Given the description of an element on the screen output the (x, y) to click on. 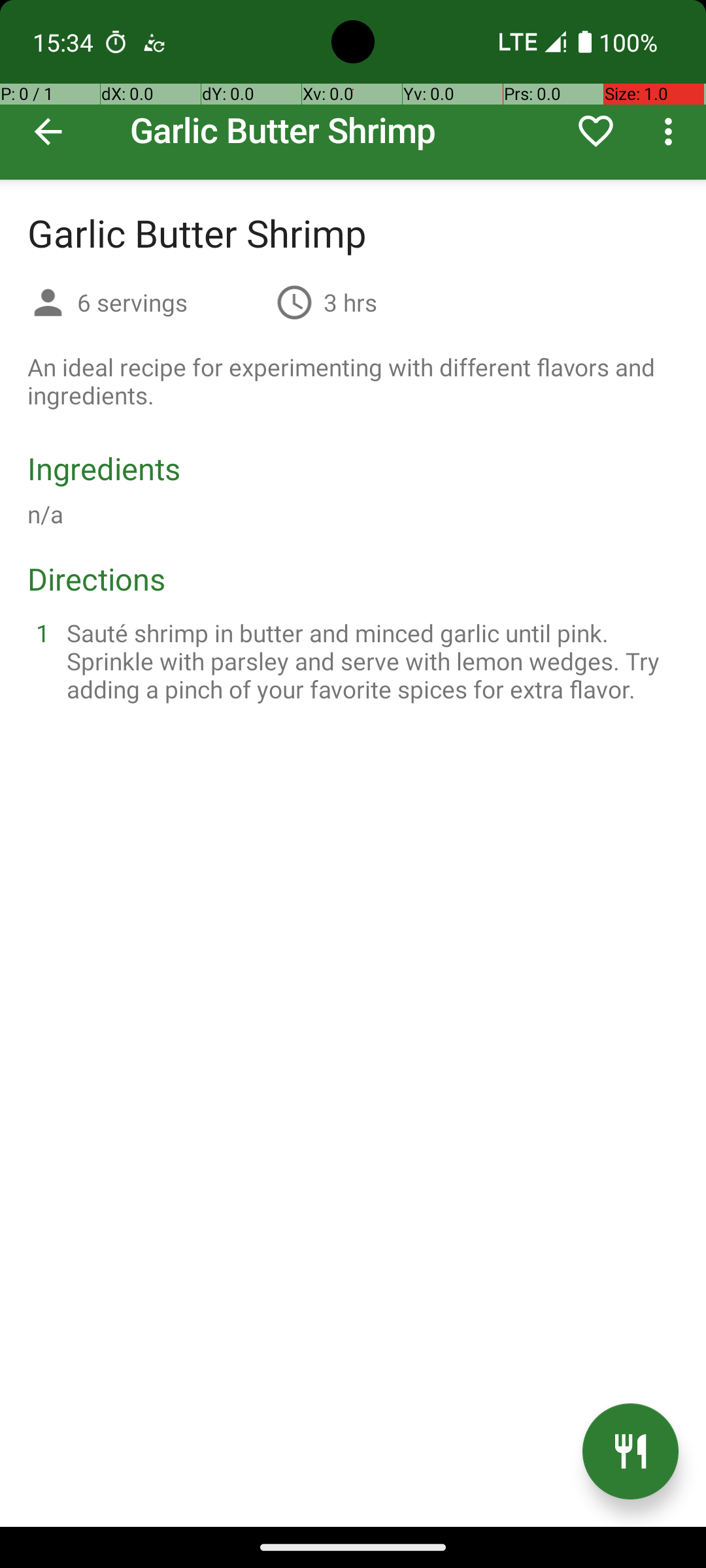
n/a Element type: android.widget.TextView (45, 513)
Sauté shrimp in butter and minced garlic until pink. Sprinkle with parsley and serve with lemon wedges. Try adding a pinch of your favorite spices for extra flavor. Element type: android.widget.TextView (368, 660)
